Given the description of an element on the screen output the (x, y) to click on. 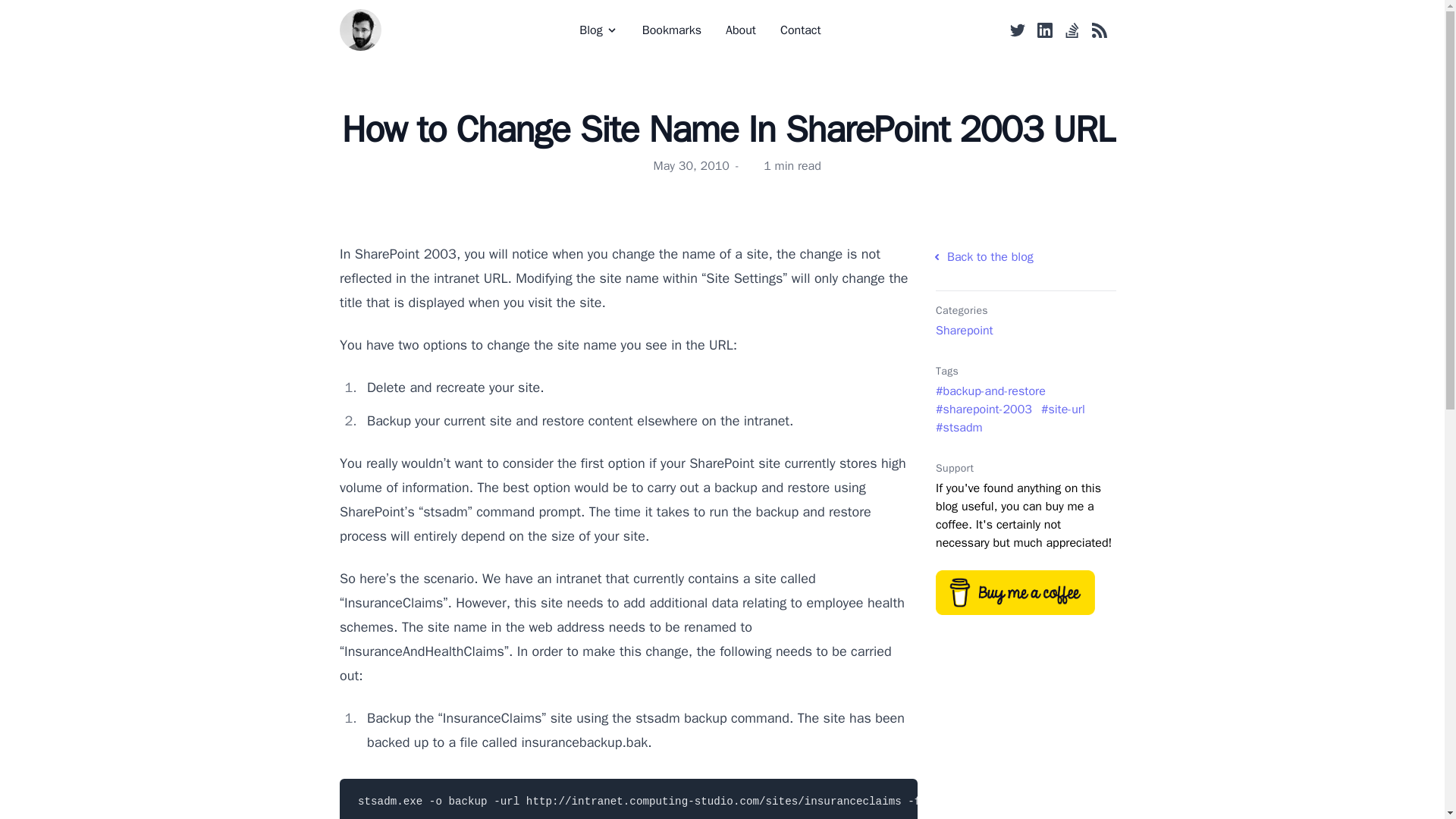
Blog (597, 29)
rss (1099, 29)
stackoverflow (1072, 29)
Sharepoint (969, 330)
Back to the blog (1026, 257)
Bookmarks (671, 29)
twitter (1017, 29)
linkedin (1044, 29)
About (740, 29)
Contact (800, 29)
